Given the description of an element on the screen output the (x, y) to click on. 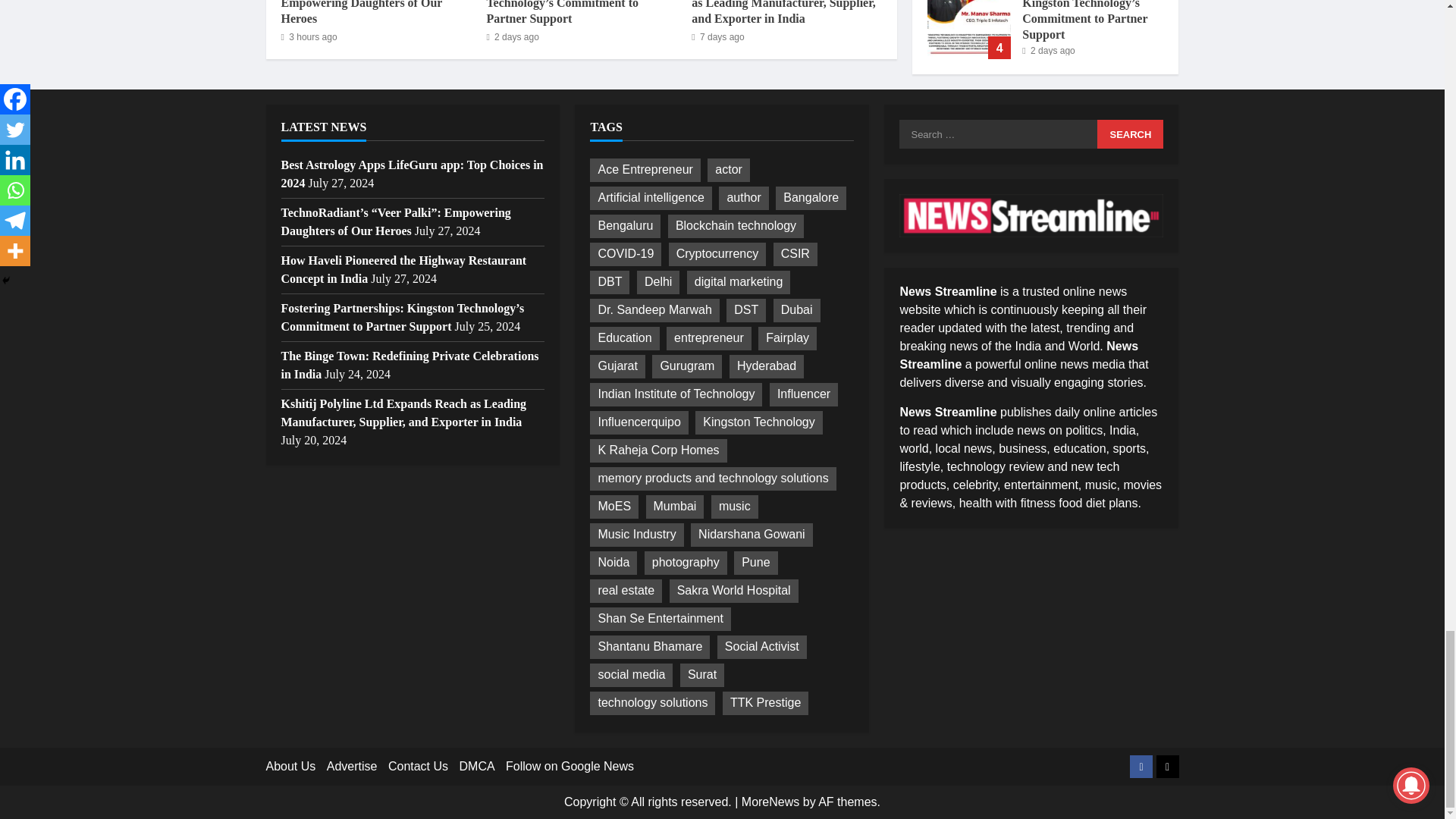
Search (1130, 133)
Search (1130, 133)
